Given the description of an element on the screen output the (x, y) to click on. 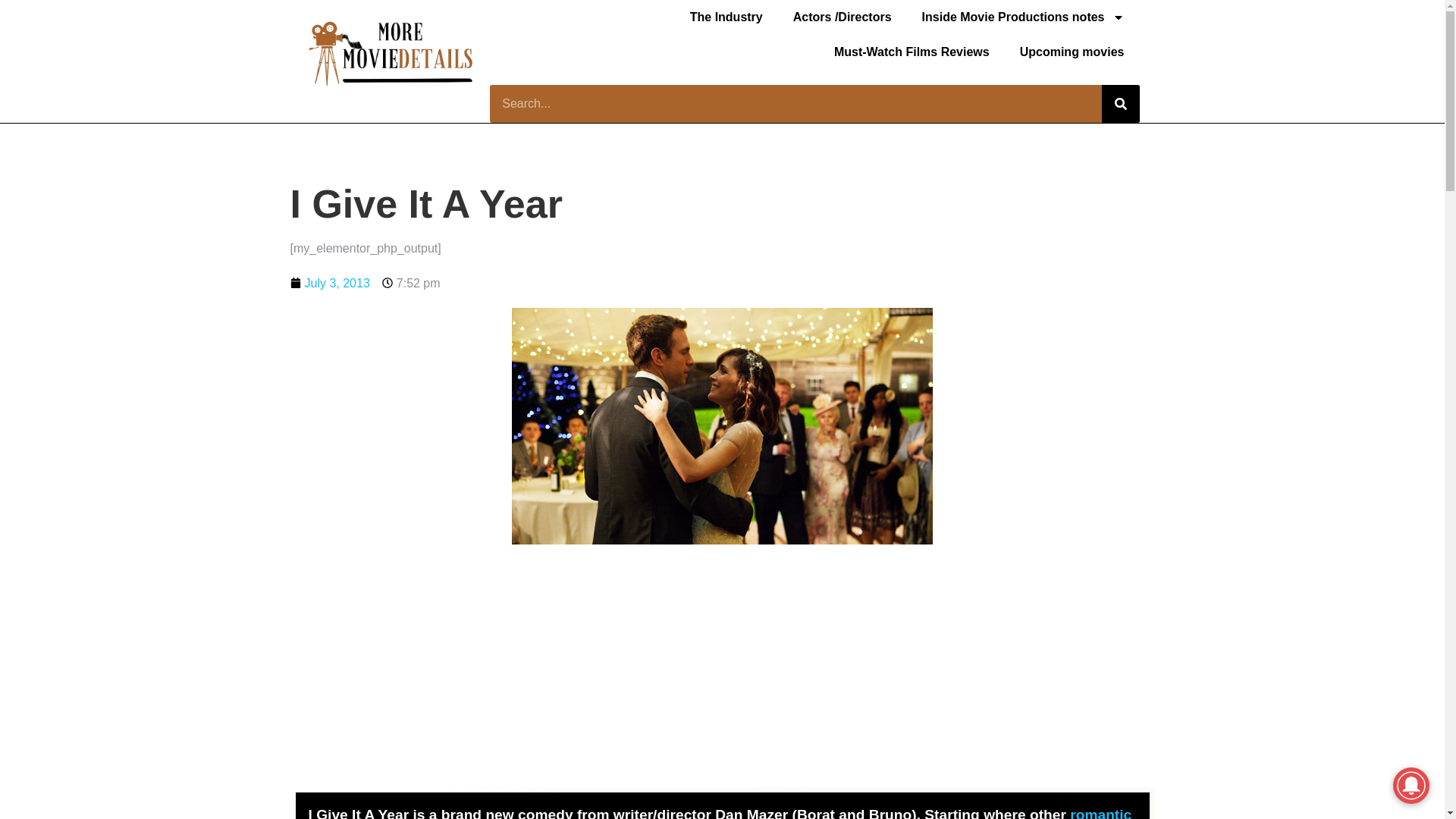
The Industry (726, 17)
Must-Watch Films Reviews (911, 52)
Inside Movie Productions notes (1023, 17)
Posts tagged with romantic comedies (719, 812)
Upcoming movies (1072, 52)
All about Movies (1023, 17)
